Given the description of an element on the screen output the (x, y) to click on. 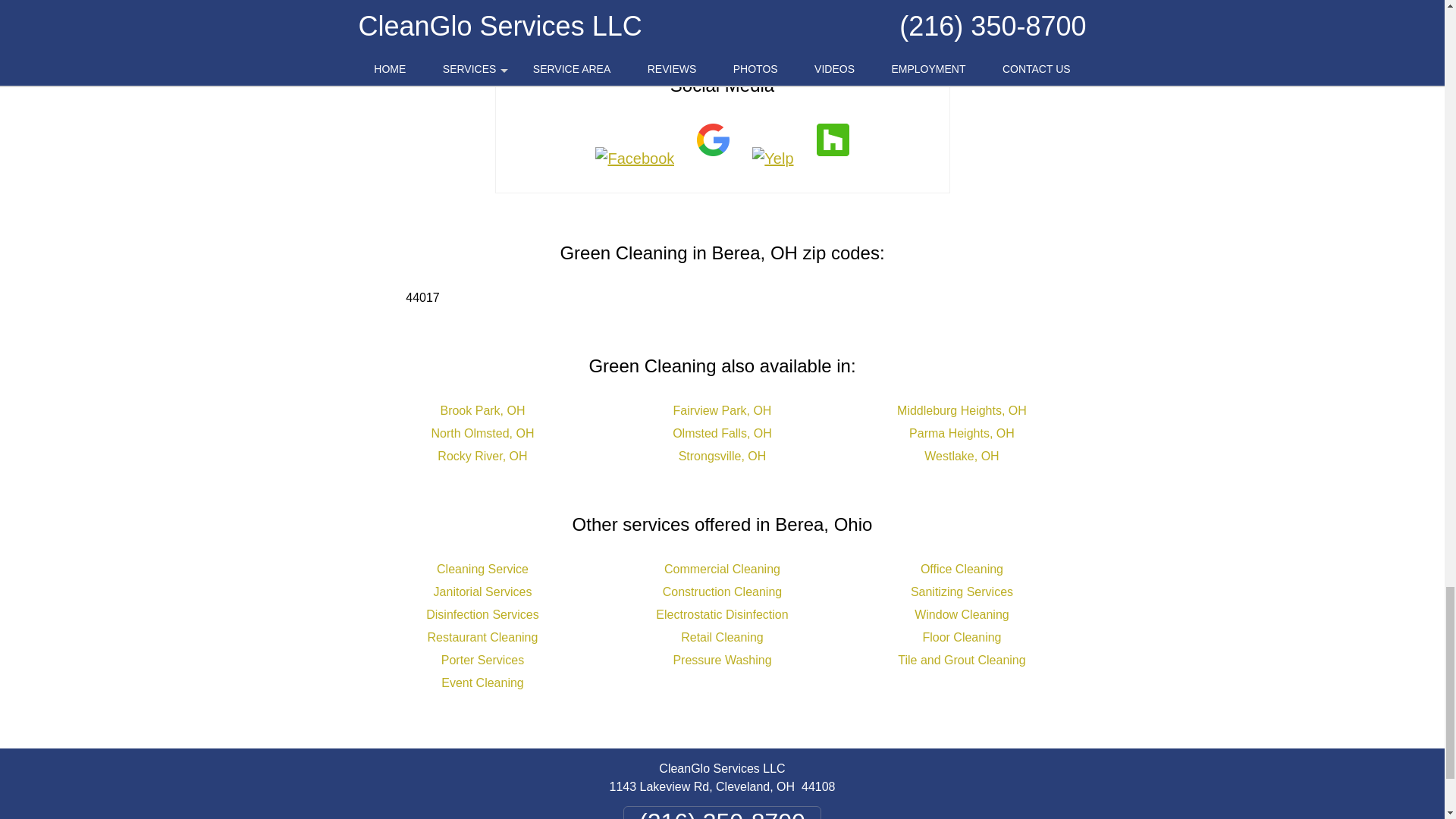
Middleburg Heights, OH (961, 410)
Facebook (634, 158)
Submit (722, 10)
Fairview Park, OH (721, 410)
Google (713, 158)
Brook Park, OH (481, 410)
Houzz (832, 158)
North Olmsted, OH (482, 432)
Yelp (773, 158)
